Given the description of an element on the screen output the (x, y) to click on. 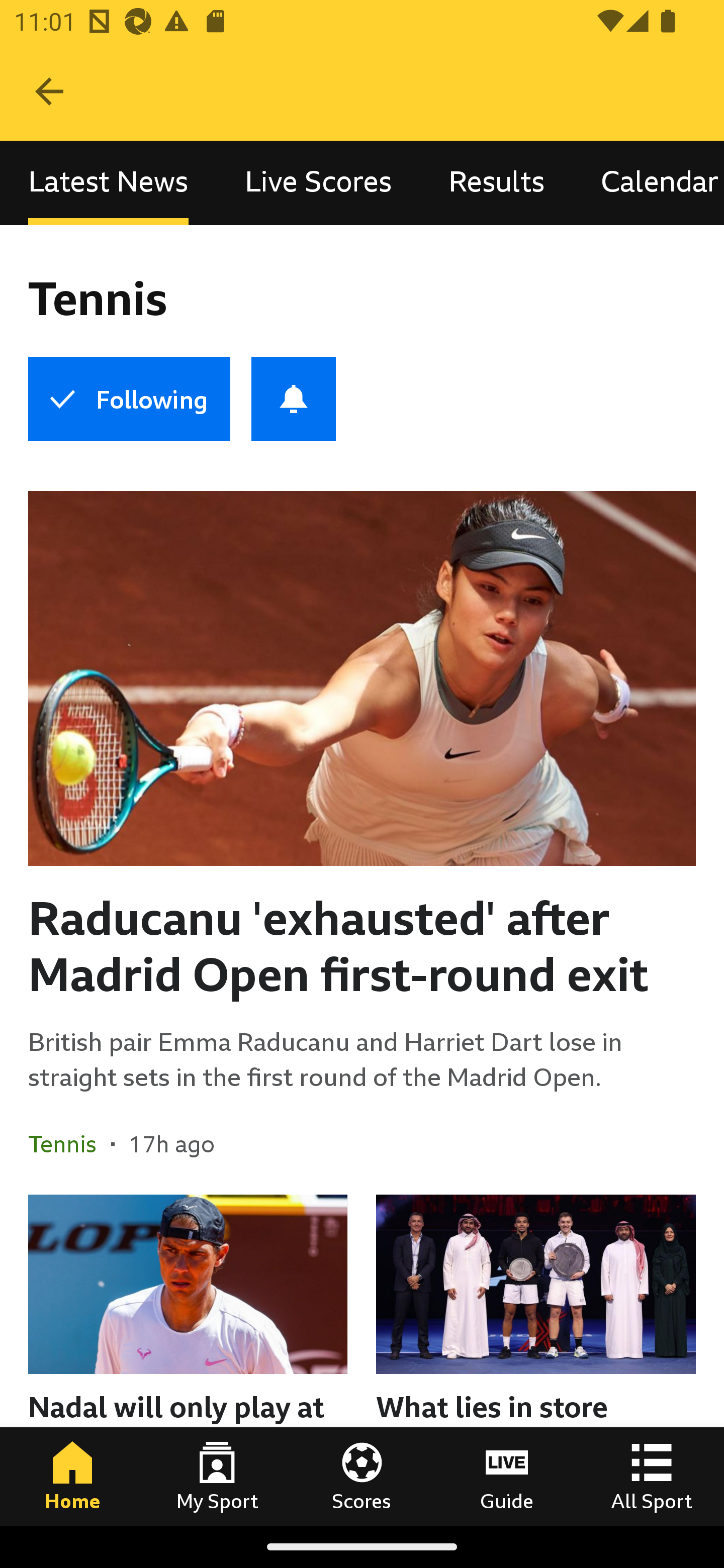
Navigate up (49, 91)
Latest News, selected Latest News (108, 183)
Live Scores (318, 183)
Results (496, 183)
Calendar (648, 183)
Following Tennis Following (129, 398)
Push notifications for Tennis (293, 398)
My Sport (216, 1475)
Scores (361, 1475)
Guide (506, 1475)
All Sport (651, 1475)
